Given the description of an element on the screen output the (x, y) to click on. 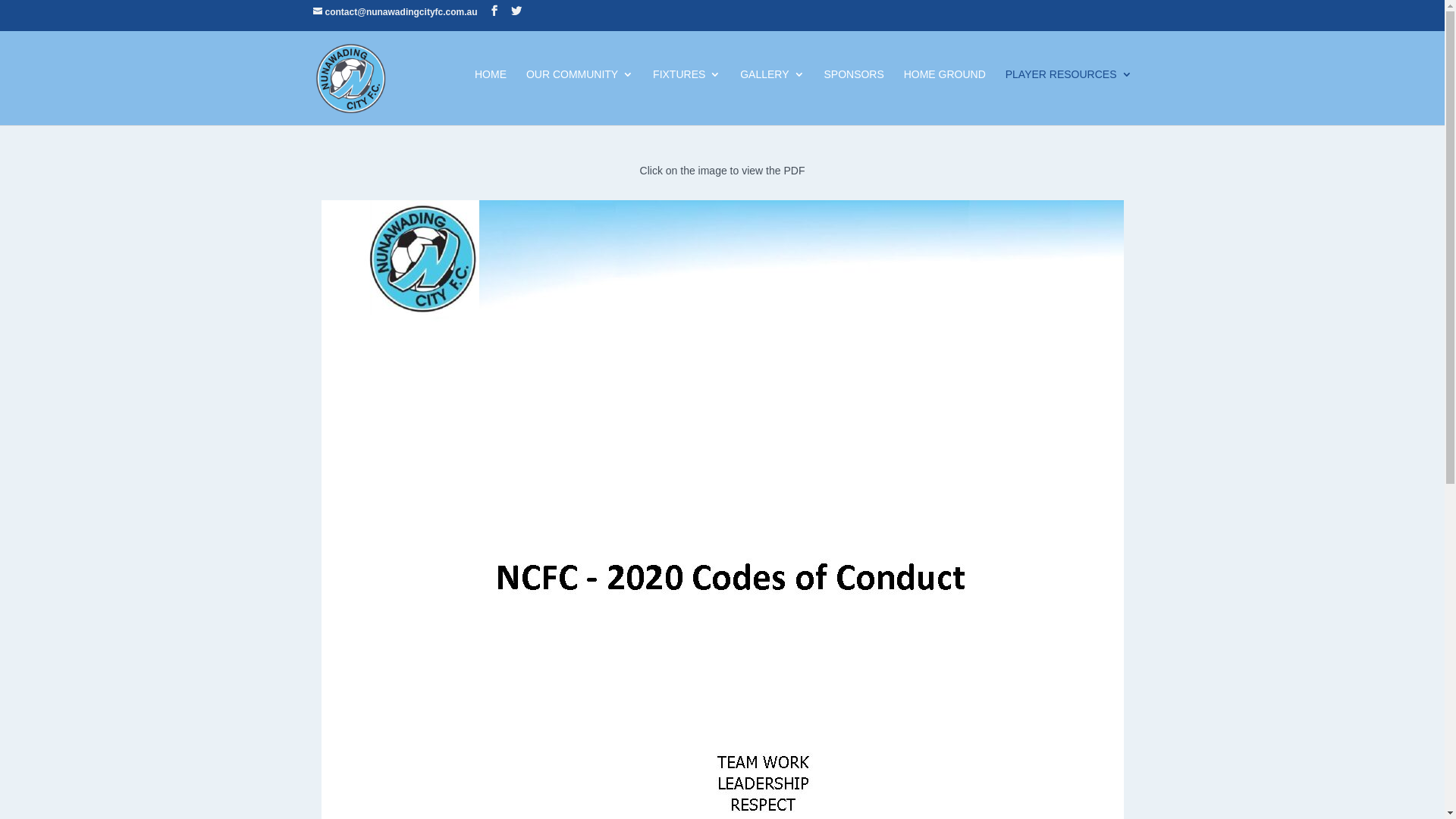
GALLERY Element type: text (771, 93)
SPONSORS Element type: text (853, 93)
PLAYER RESOURCES Element type: text (1068, 93)
contact@nunawadingcityfc.com.au Element type: text (394, 11)
HOME Element type: text (490, 93)
OUR COMMUNITY Element type: text (579, 93)
FIXTURES Element type: text (686, 93)
HOME GROUND Element type: text (944, 93)
